Given the description of an element on the screen output the (x, y) to click on. 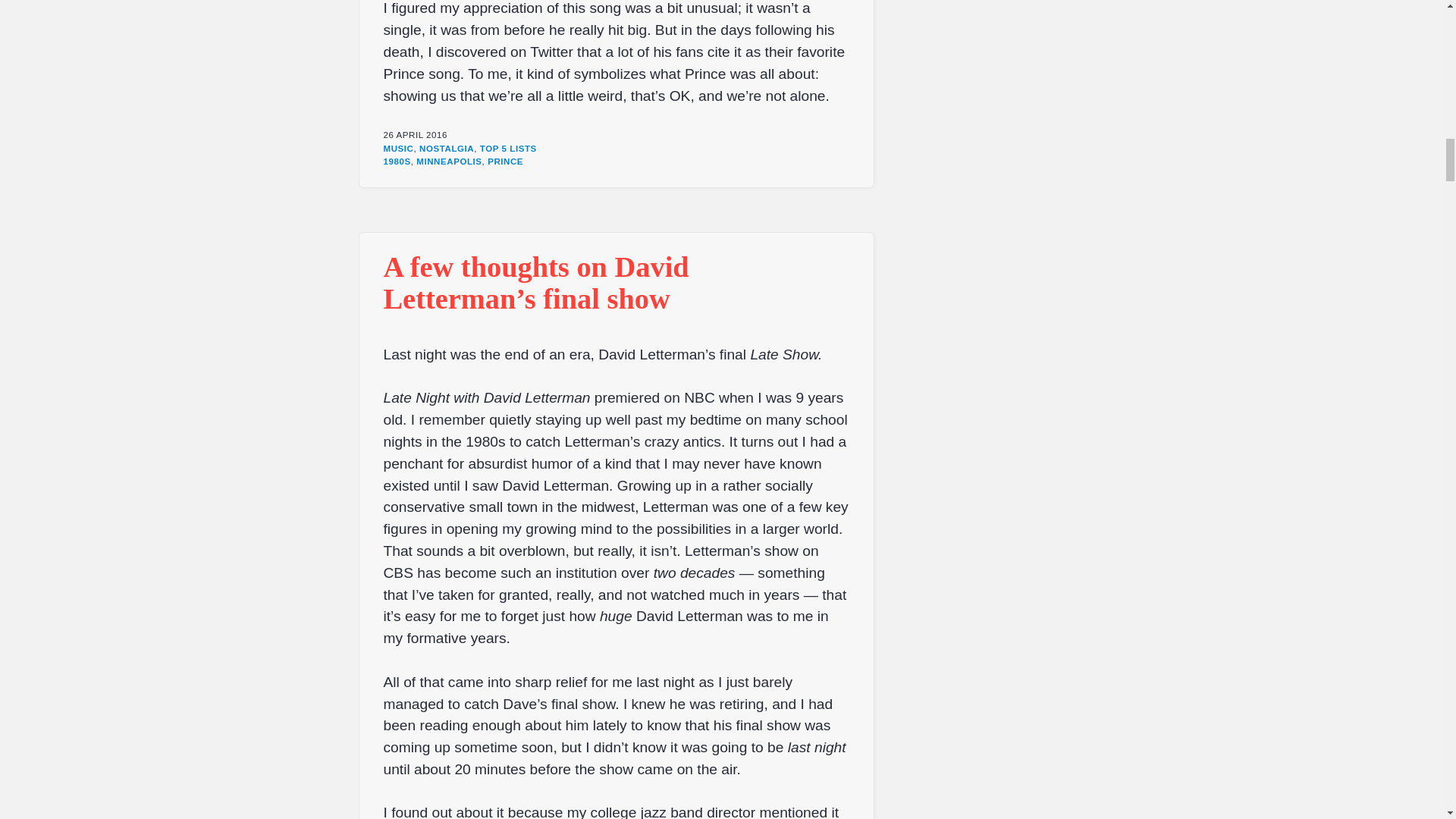
MINNEAPOLIS (448, 161)
NOSTALGIA (446, 148)
PRINCE (504, 161)
1980S (397, 161)
TOP 5 LISTS (508, 148)
MUSIC (398, 148)
